Given the description of an element on the screen output the (x, y) to click on. 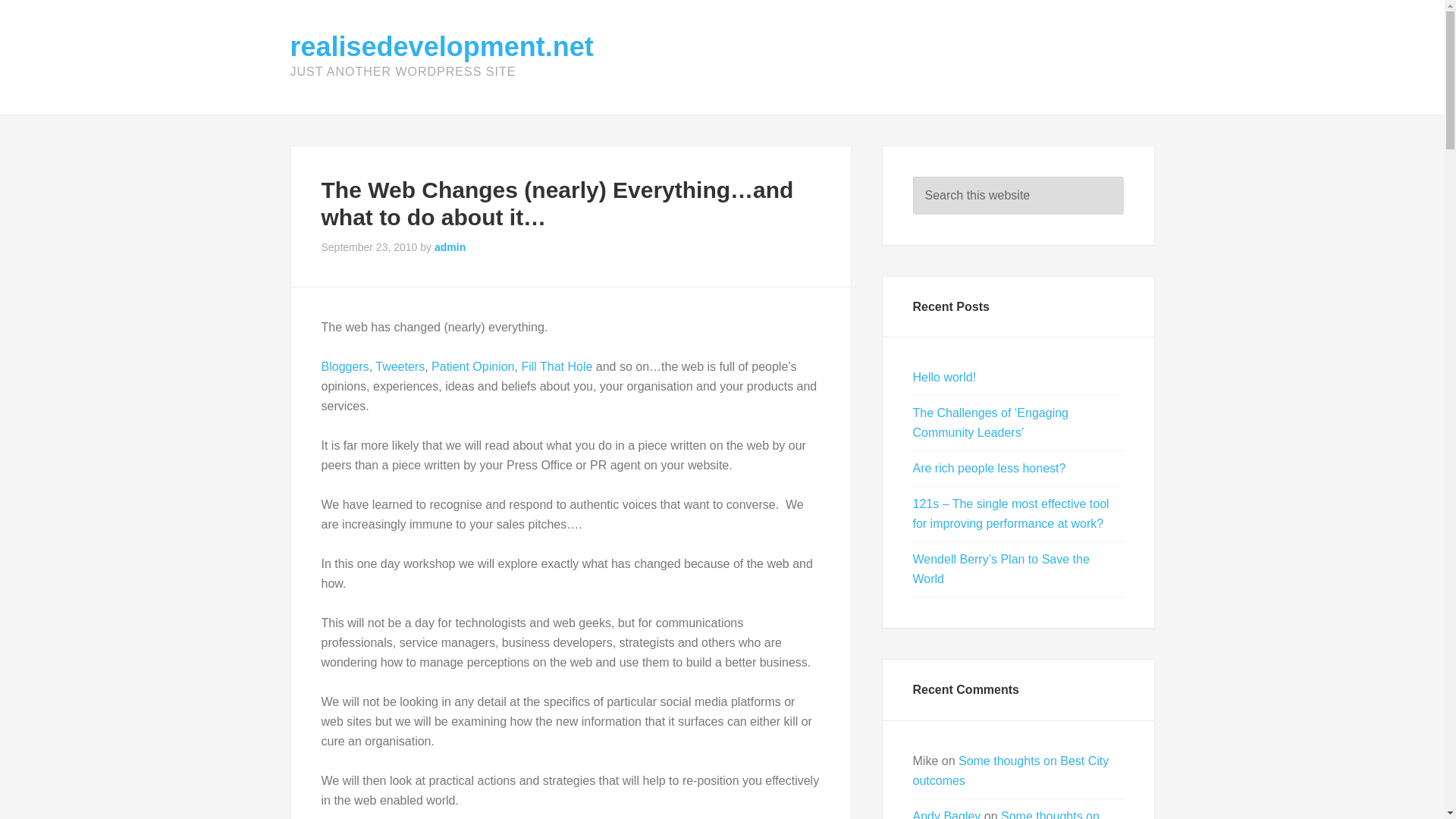
Bloggers (345, 366)
Hello world! (944, 377)
Some thoughts on Best City outcomes (1005, 814)
realisedevelopment.net (440, 46)
Some thoughts on Best City outcomes (1010, 770)
Fill That Hole (556, 366)
Andy Bagley (946, 814)
